Given the description of an element on the screen output the (x, y) to click on. 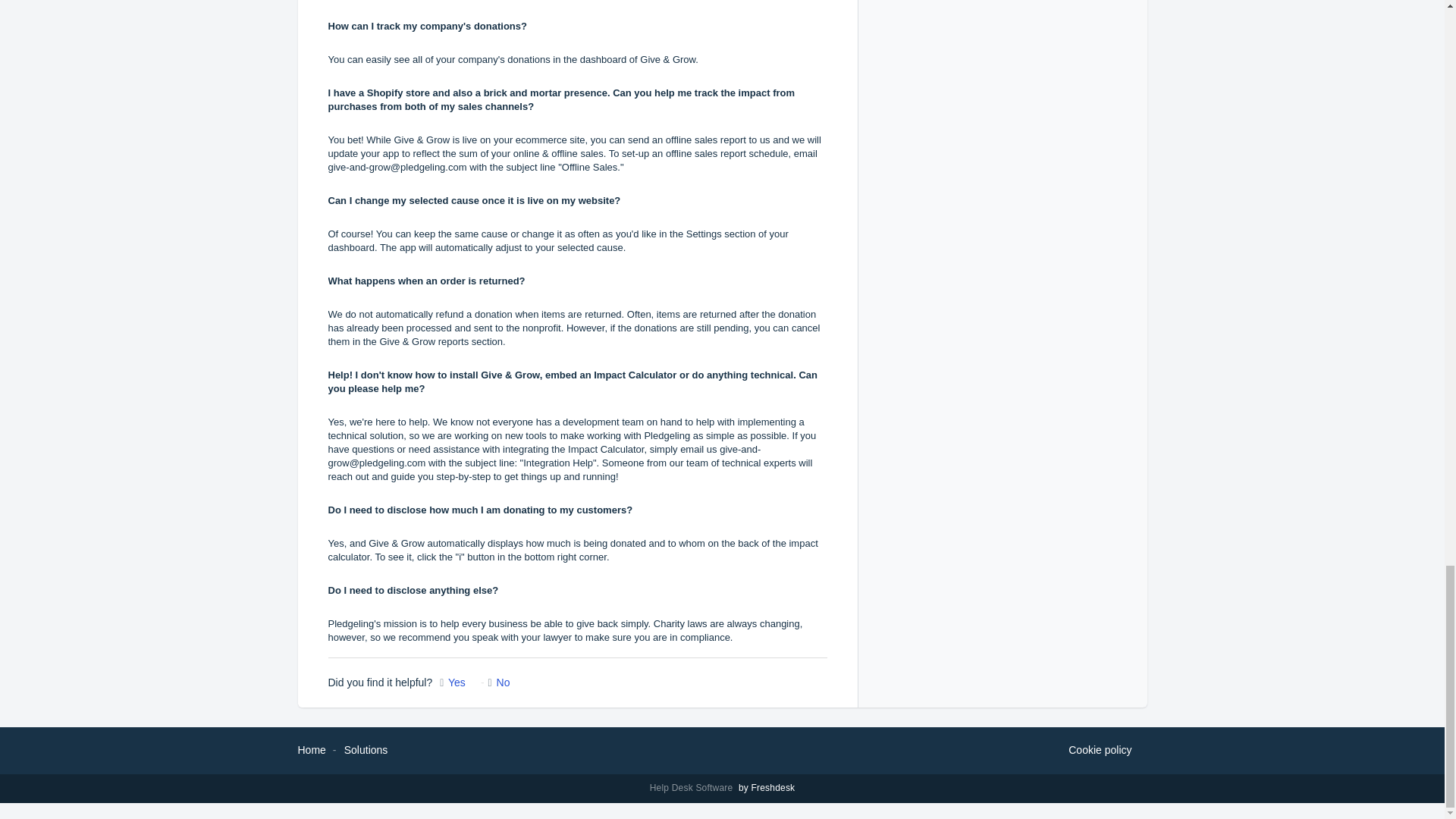
Cookie policy (1099, 750)
Help Desk Software (693, 787)
Why we love Cookies (1099, 750)
Solutions (365, 749)
Home (310, 749)
